Given the description of an element on the screen output the (x, y) to click on. 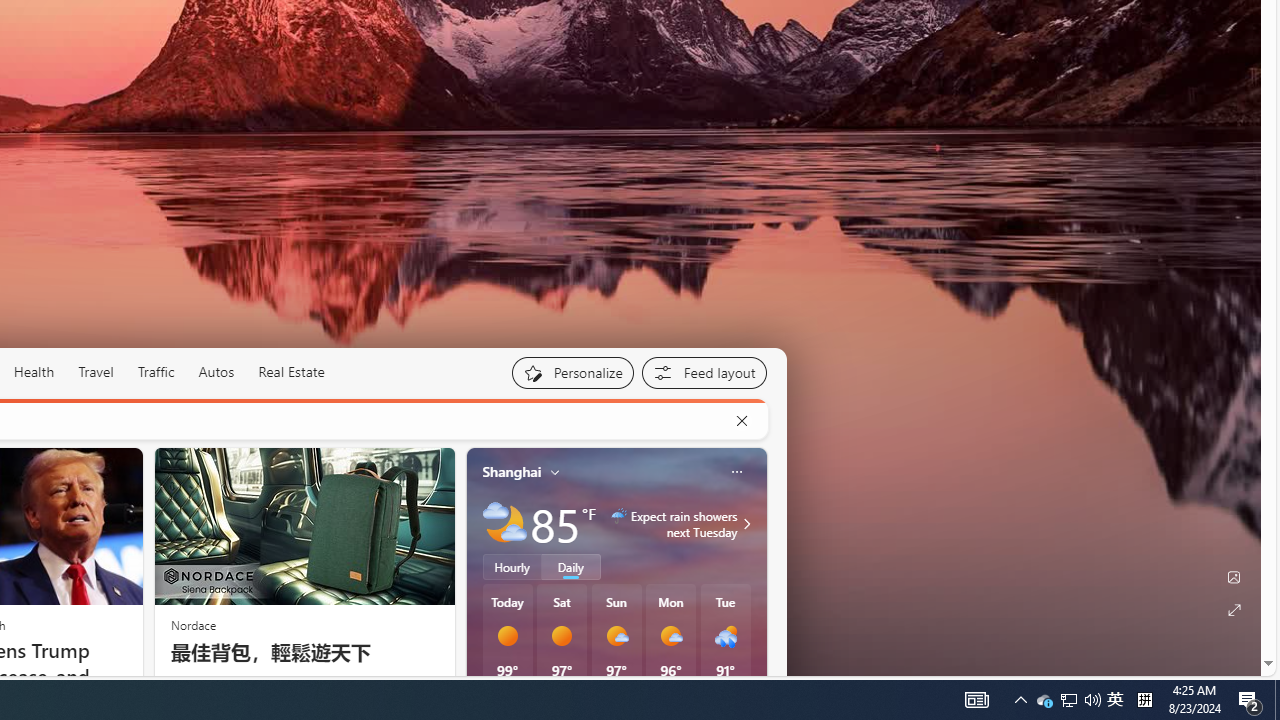
Shanghai (511, 471)
My location (555, 471)
Class: weather-arrow-glyph (746, 523)
Partly cloudy (504, 523)
